Given the description of an element on the screen output the (x, y) to click on. 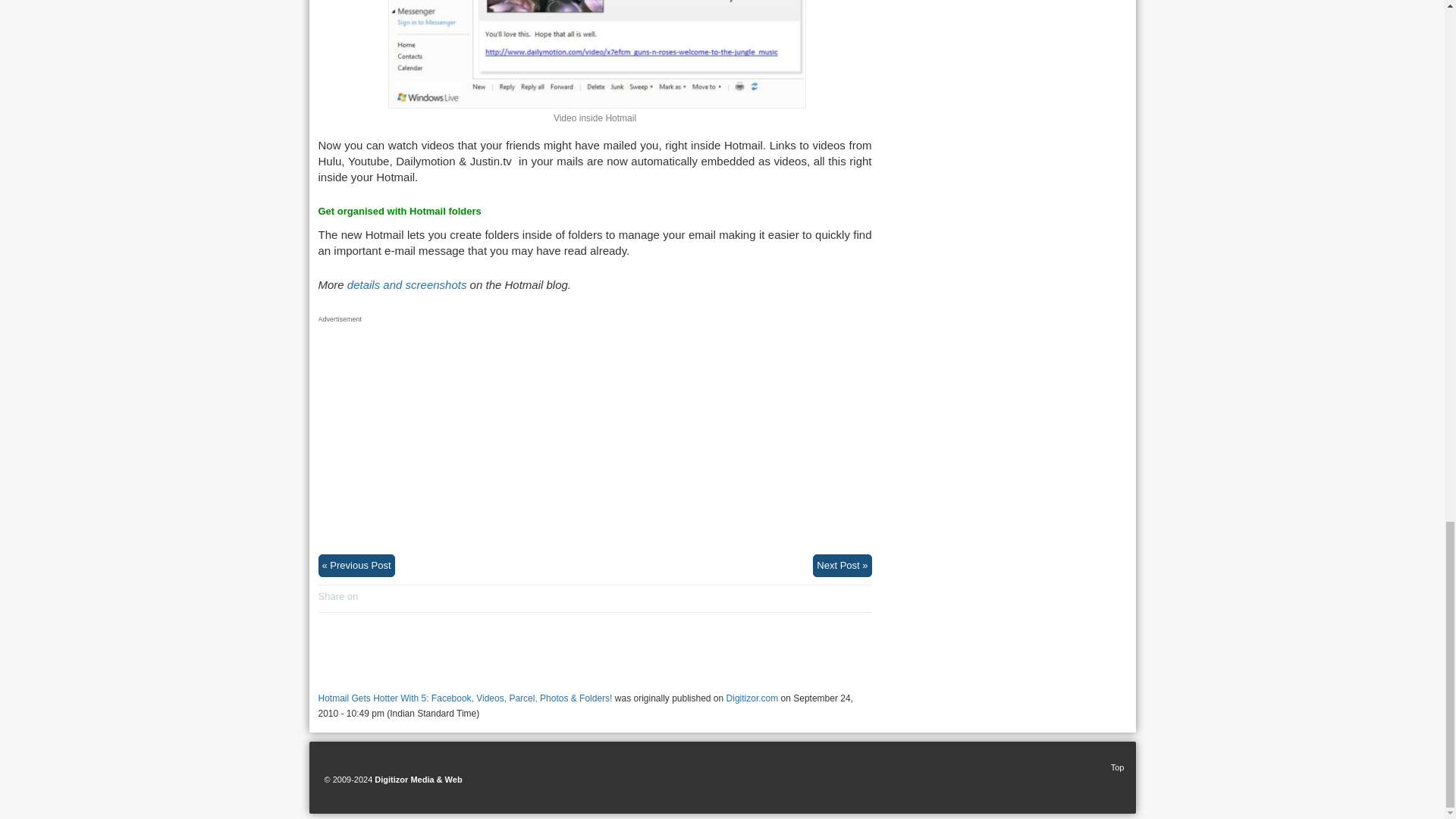
share this post on Twitter (397, 597)
share this post on Facebook (382, 597)
Top (1111, 766)
details and screenshots (407, 284)
Digitizor.com (752, 697)
share on tw (397, 597)
share on gp (367, 597)
share on fb (382, 597)
Video inside Hotmail (597, 54)
